Given the description of an element on the screen output the (x, y) to click on. 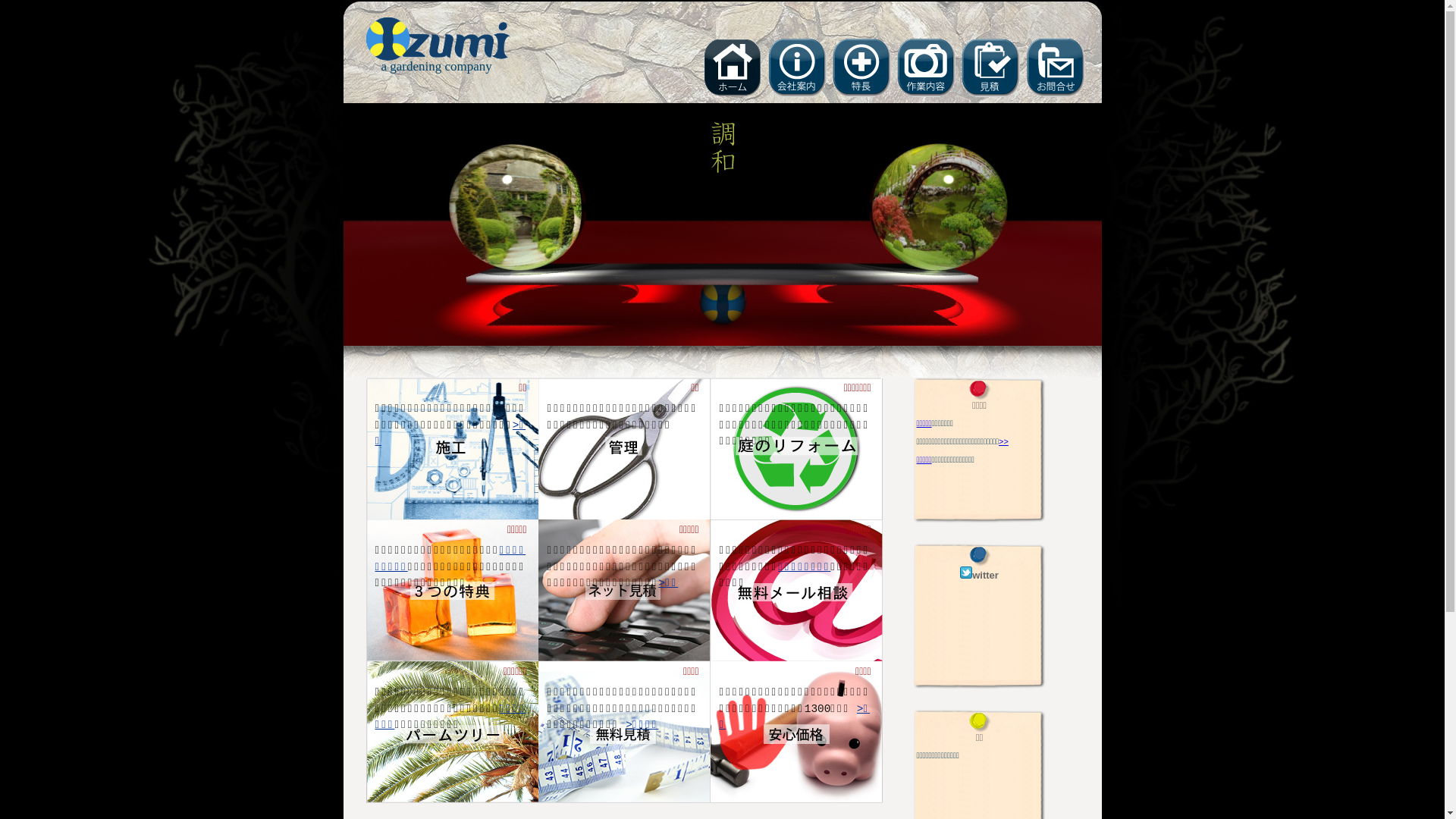
IZUMI Element type: hover (437, 56)
>> Element type: text (1003, 440)
